Given the description of an element on the screen output the (x, y) to click on. 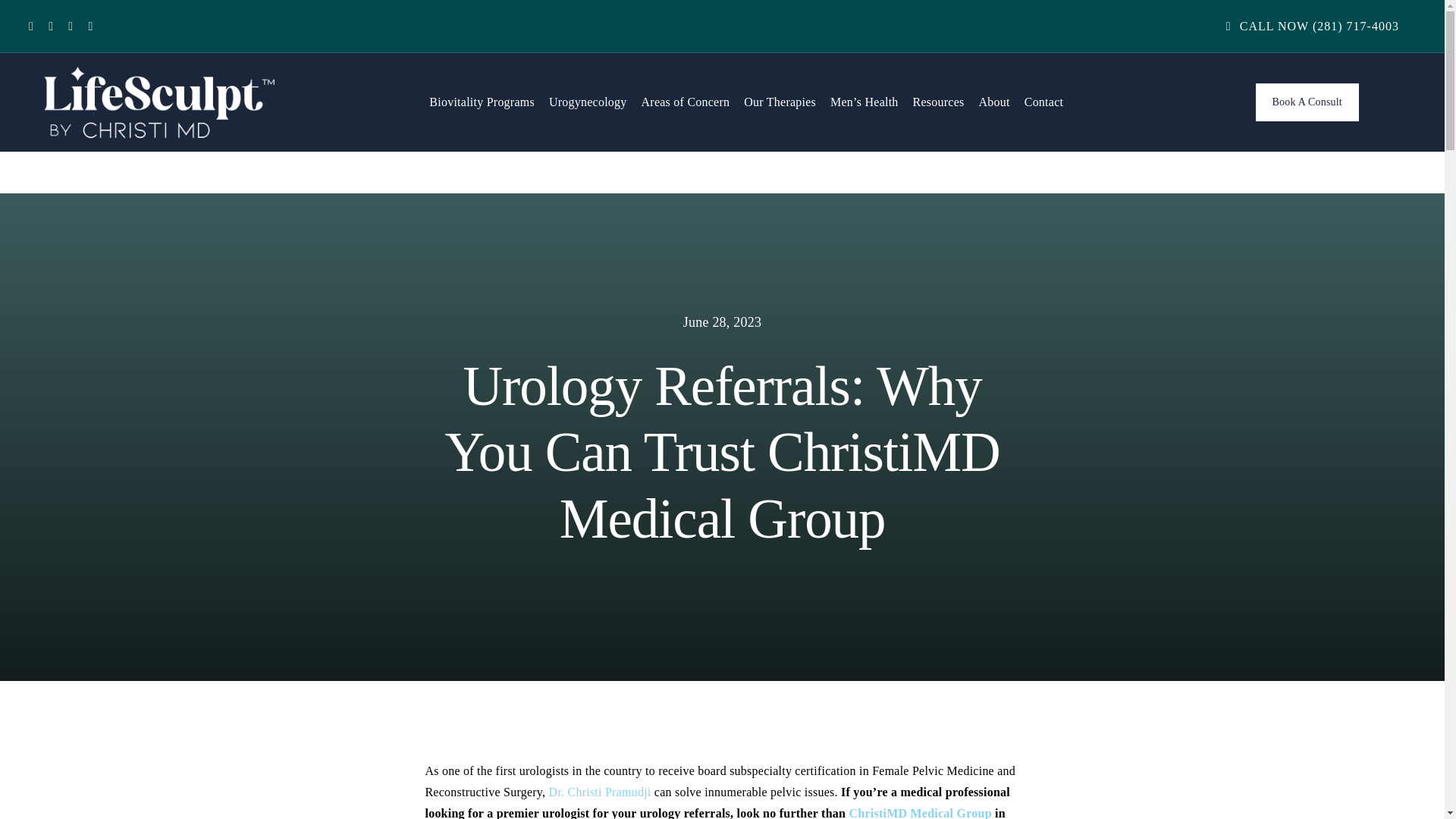
Areas of Concern (686, 101)
Biovitality Programs (481, 101)
Urogynecology (587, 101)
Our Therapies (780, 101)
